Given the description of an element on the screen output the (x, y) to click on. 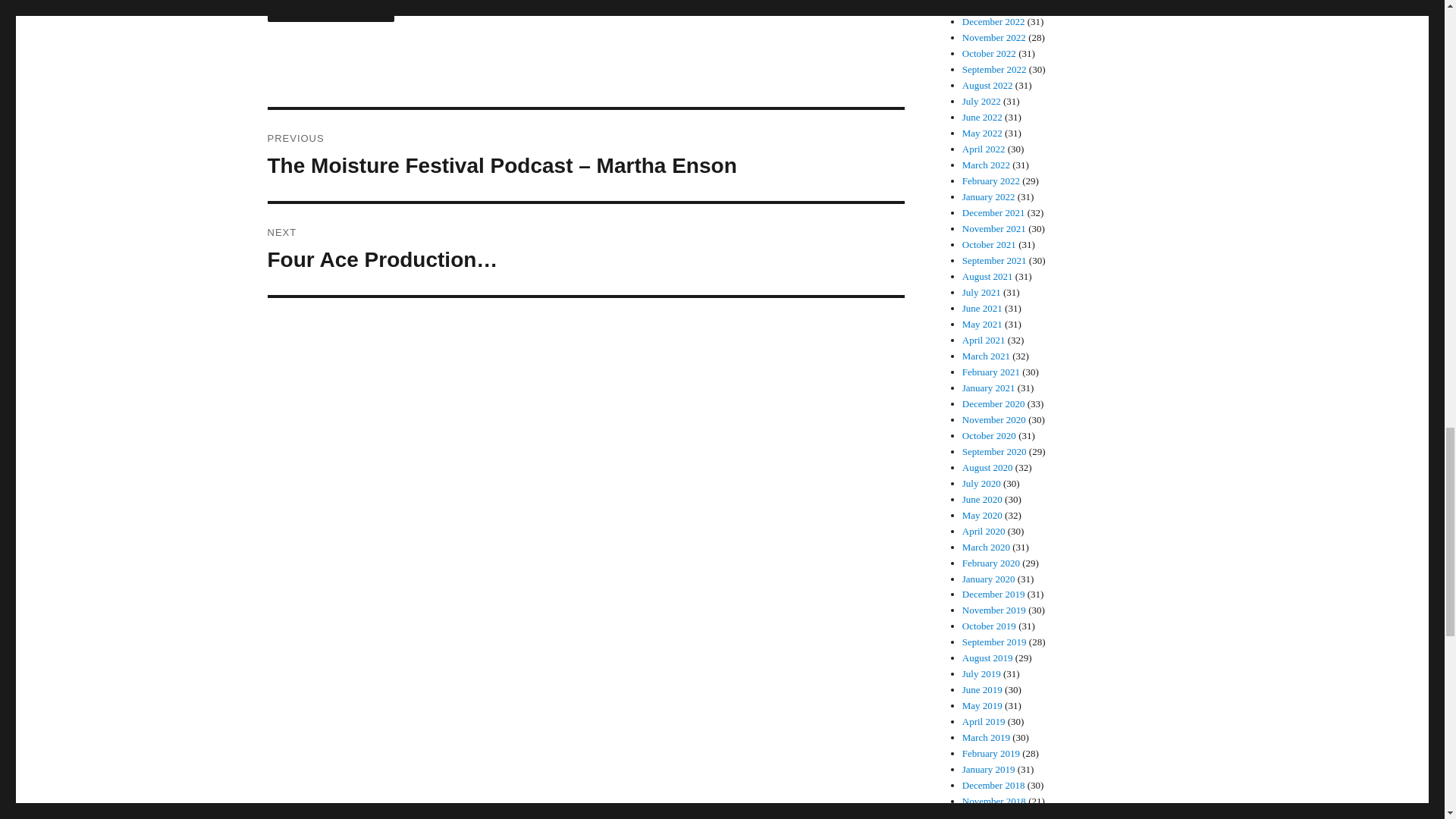
Post Comment (330, 11)
Post Comment (330, 11)
